Given the description of an element on the screen output the (x, y) to click on. 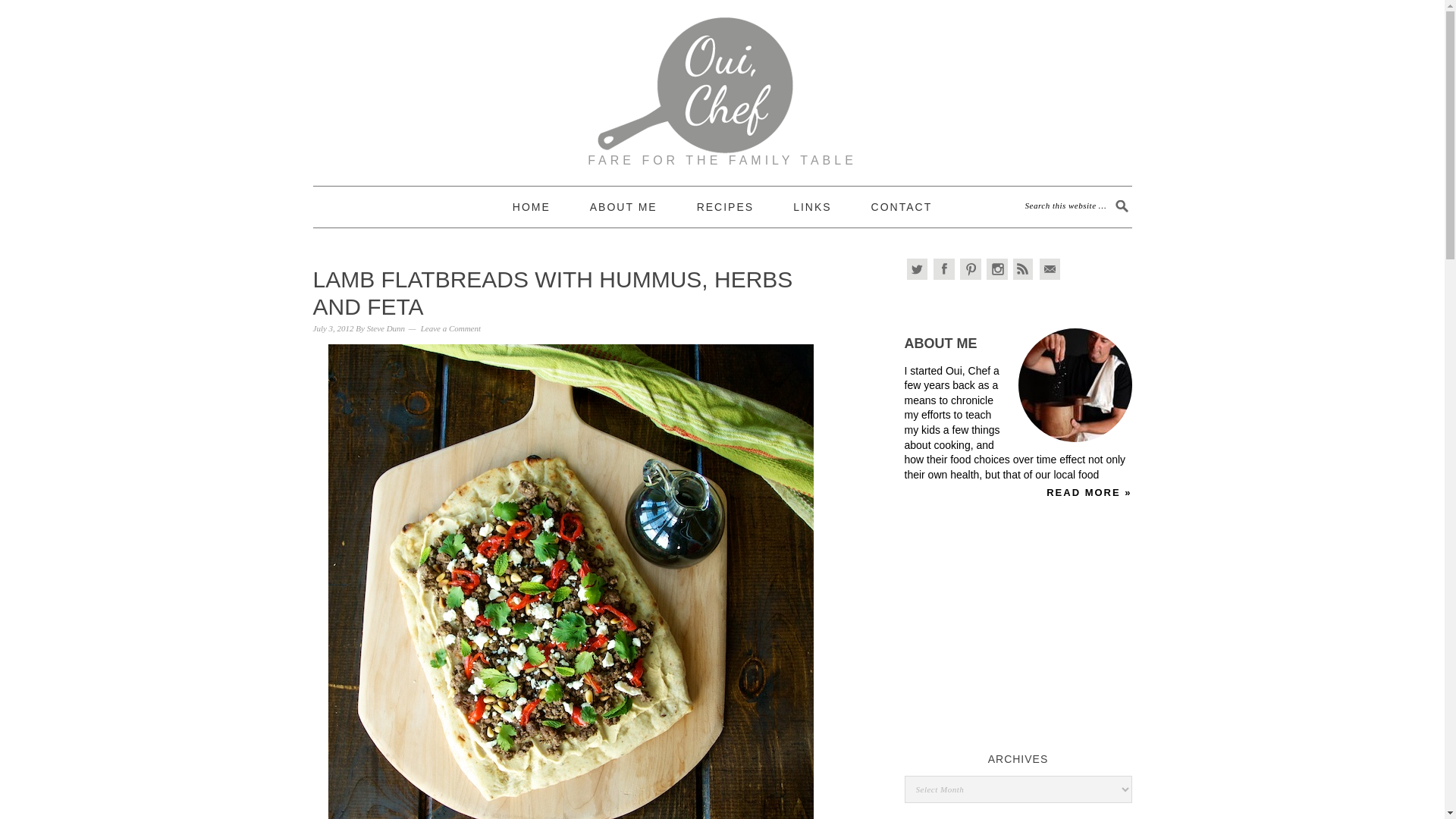
LINKS (812, 206)
Feed (1023, 269)
Email (1049, 269)
OUI, CHEF (721, 71)
ABOUT ME (623, 206)
RECIPES (725, 206)
Pinterest profile (970, 269)
Twitter profile (917, 269)
Leave a Comment (450, 327)
Steve Dunn (385, 327)
FB profile (943, 269)
Instagram profile (996, 269)
HOME (531, 206)
